Given the description of an element on the screen output the (x, y) to click on. 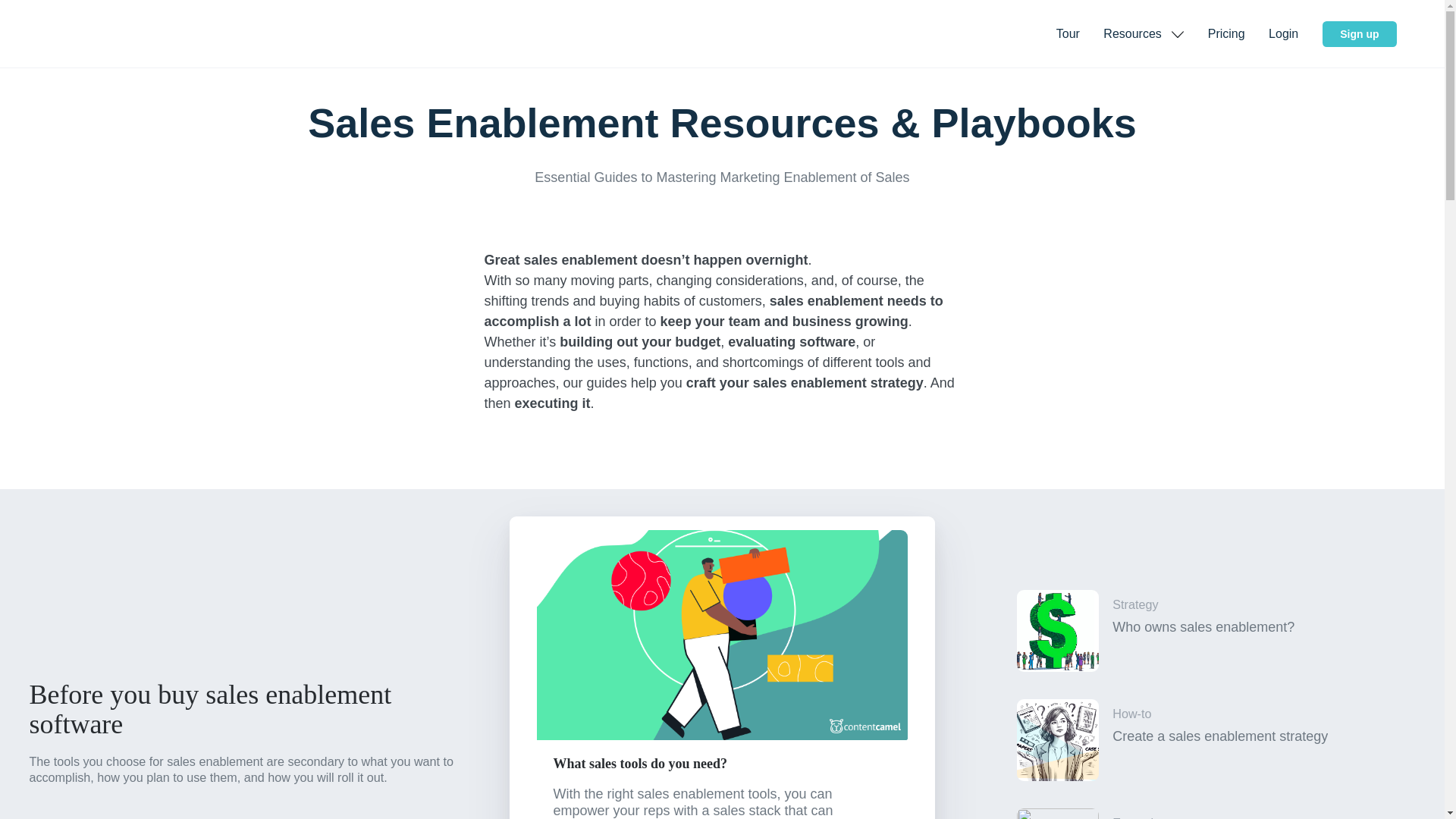
Tour (1202, 739)
Resources (1202, 806)
Sign up (1070, 33)
Go to homepage (1143, 33)
Login (1202, 630)
Pricing (1359, 33)
